Given the description of an element on the screen output the (x, y) to click on. 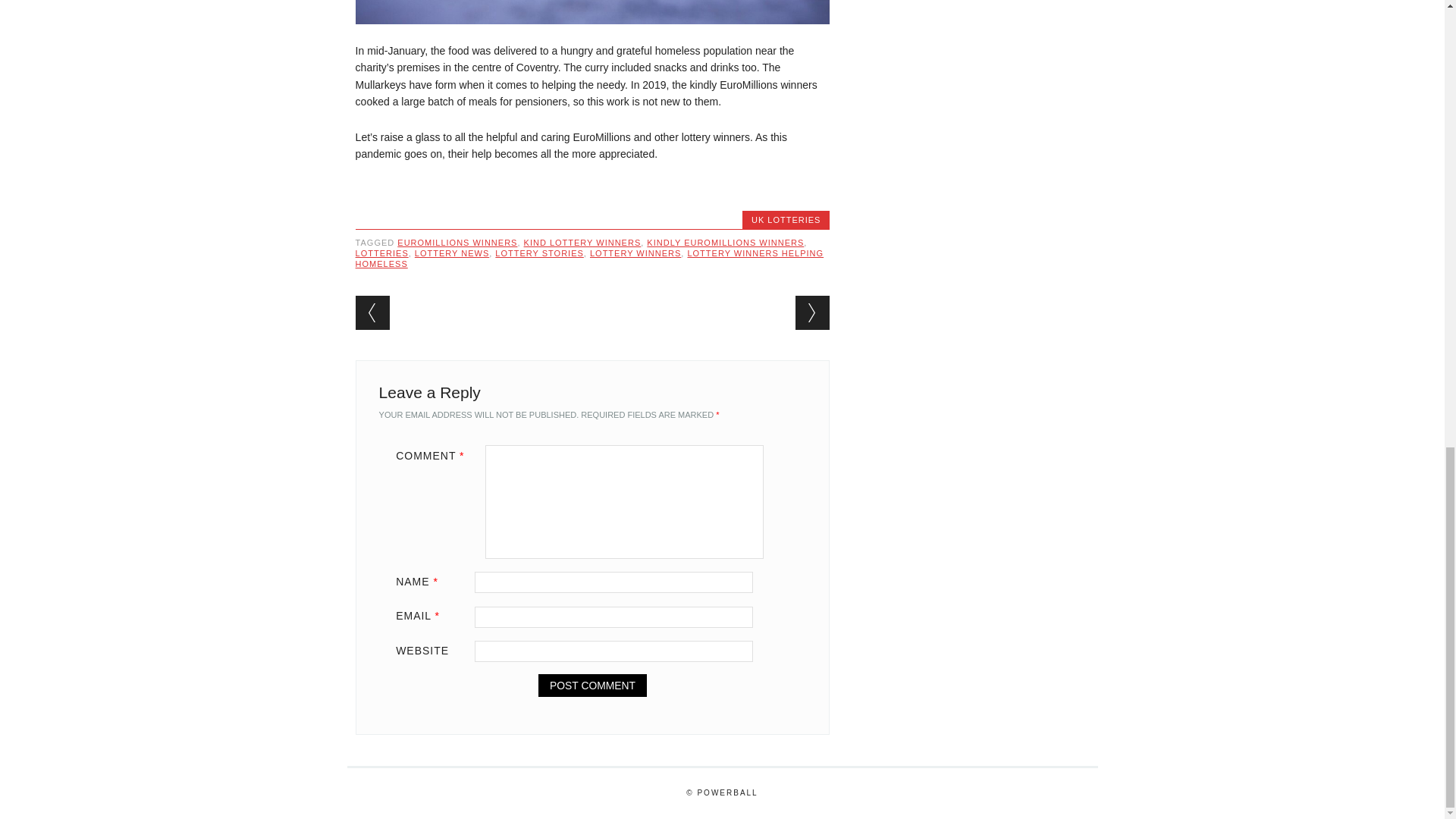
EUROMILLIONS WINNERS (456, 242)
Post Comment (592, 685)
LOTTERY NEWS (451, 252)
KINDLY EUROMILLIONS WINNERS (724, 242)
LOTTERY WINNERS HELPING HOMELESS (589, 258)
KIND LOTTERY WINNERS (583, 242)
LOTTERY STORIES (539, 252)
Post Comment (592, 685)
UK LOTTERIES (786, 219)
LOTTERIES (382, 252)
LOTTERY WINNERS (635, 252)
